Given the description of an element on the screen output the (x, y) to click on. 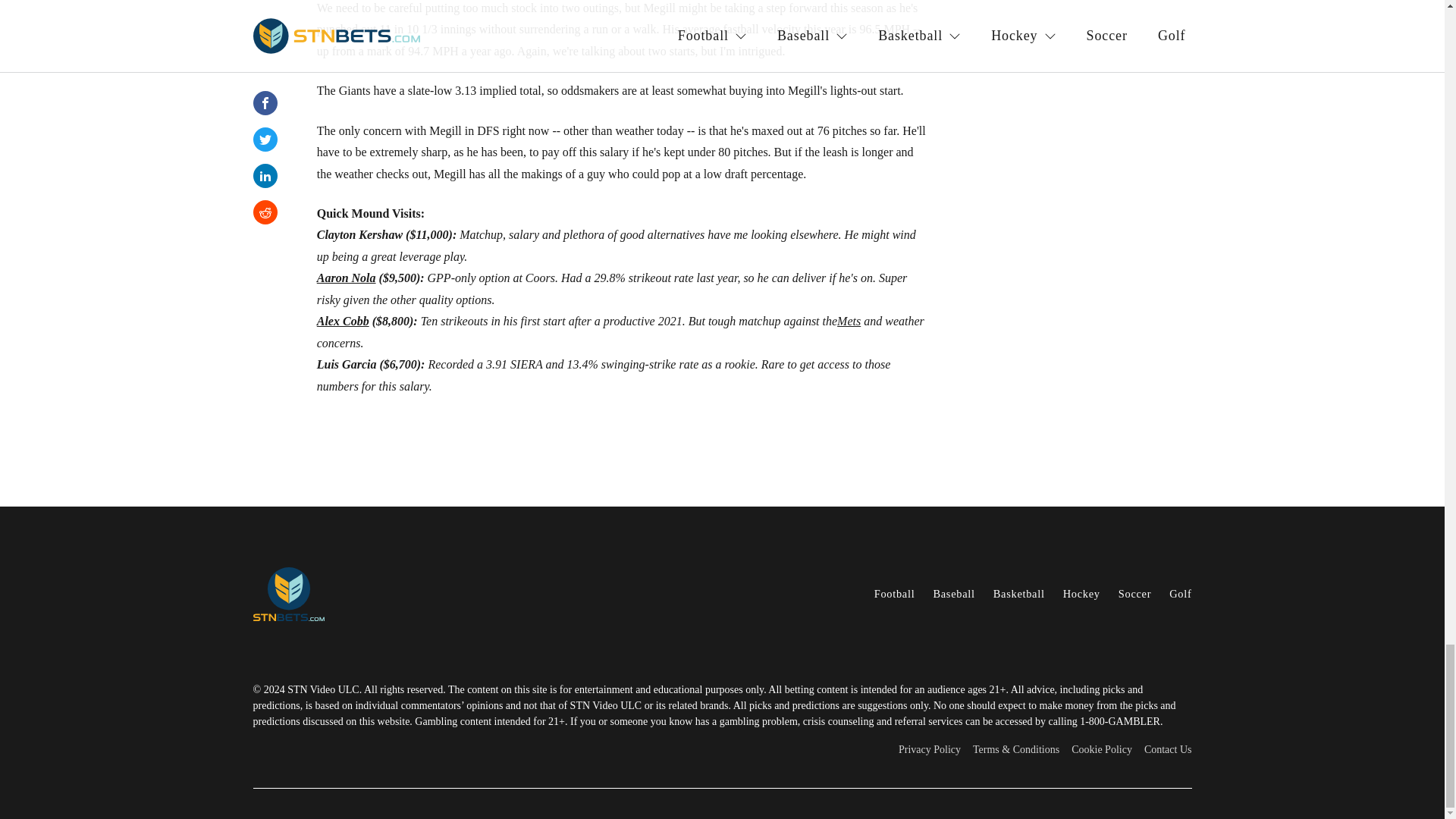
STN-Bets-Stacked.svg (336, 593)
